Given the description of an element on the screen output the (x, y) to click on. 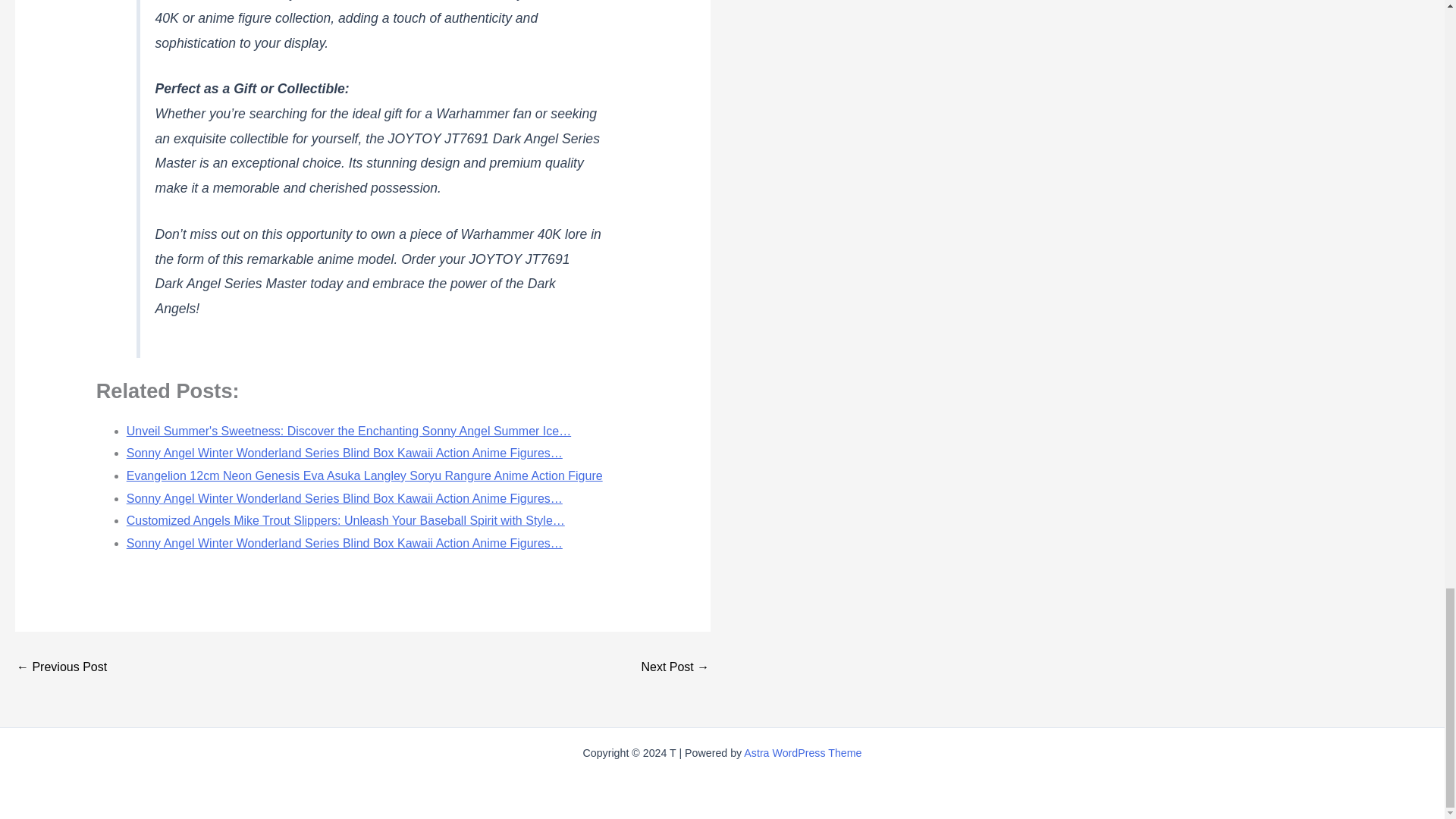
Astra WordPress Theme (802, 752)
